Given the description of an element on the screen output the (x, y) to click on. 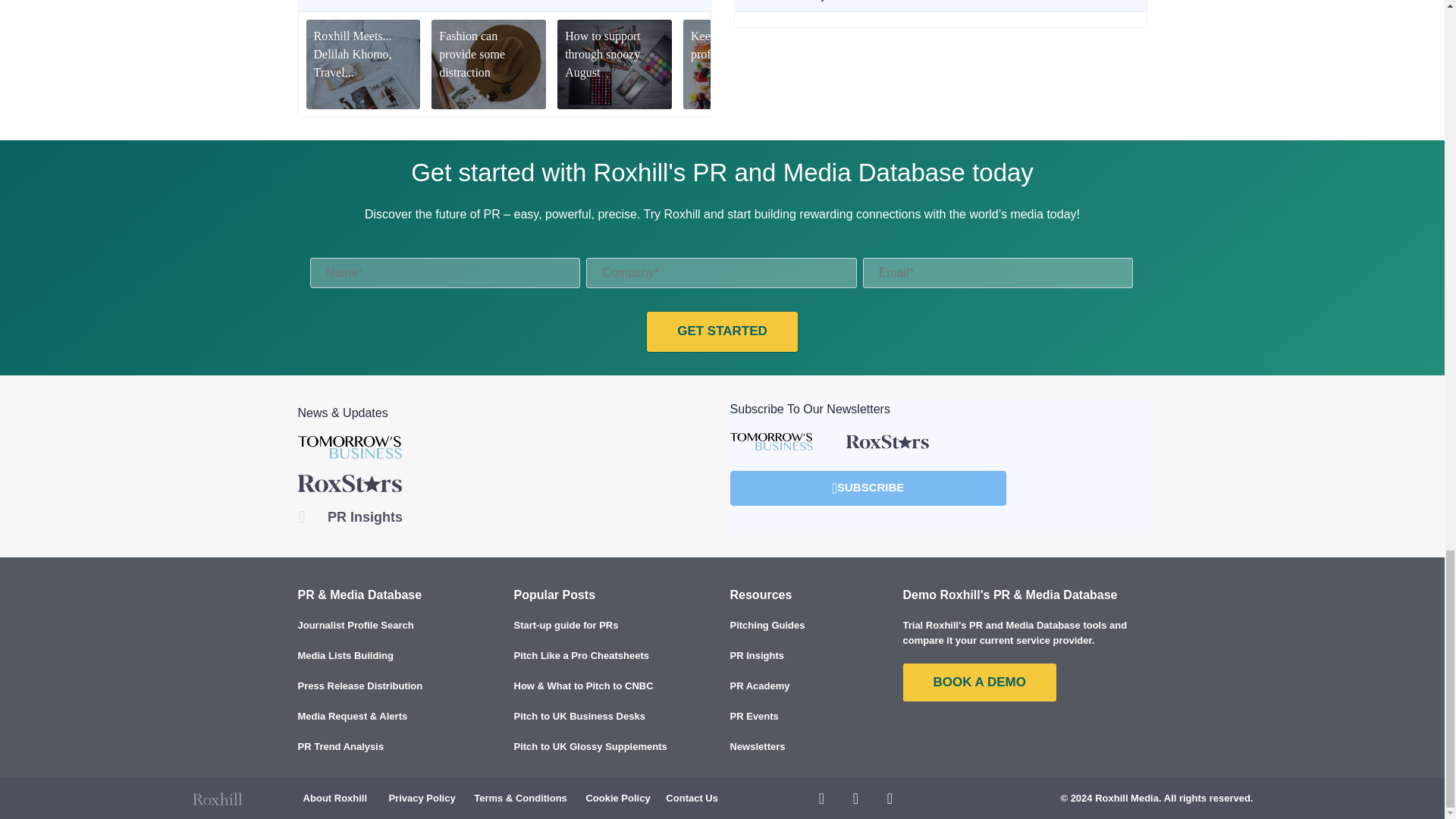
GET STARTED (721, 331)
Logo Roxhill Grey (216, 798)
BOOK A DEMO (978, 682)
